Given the description of an element on the screen output the (x, y) to click on. 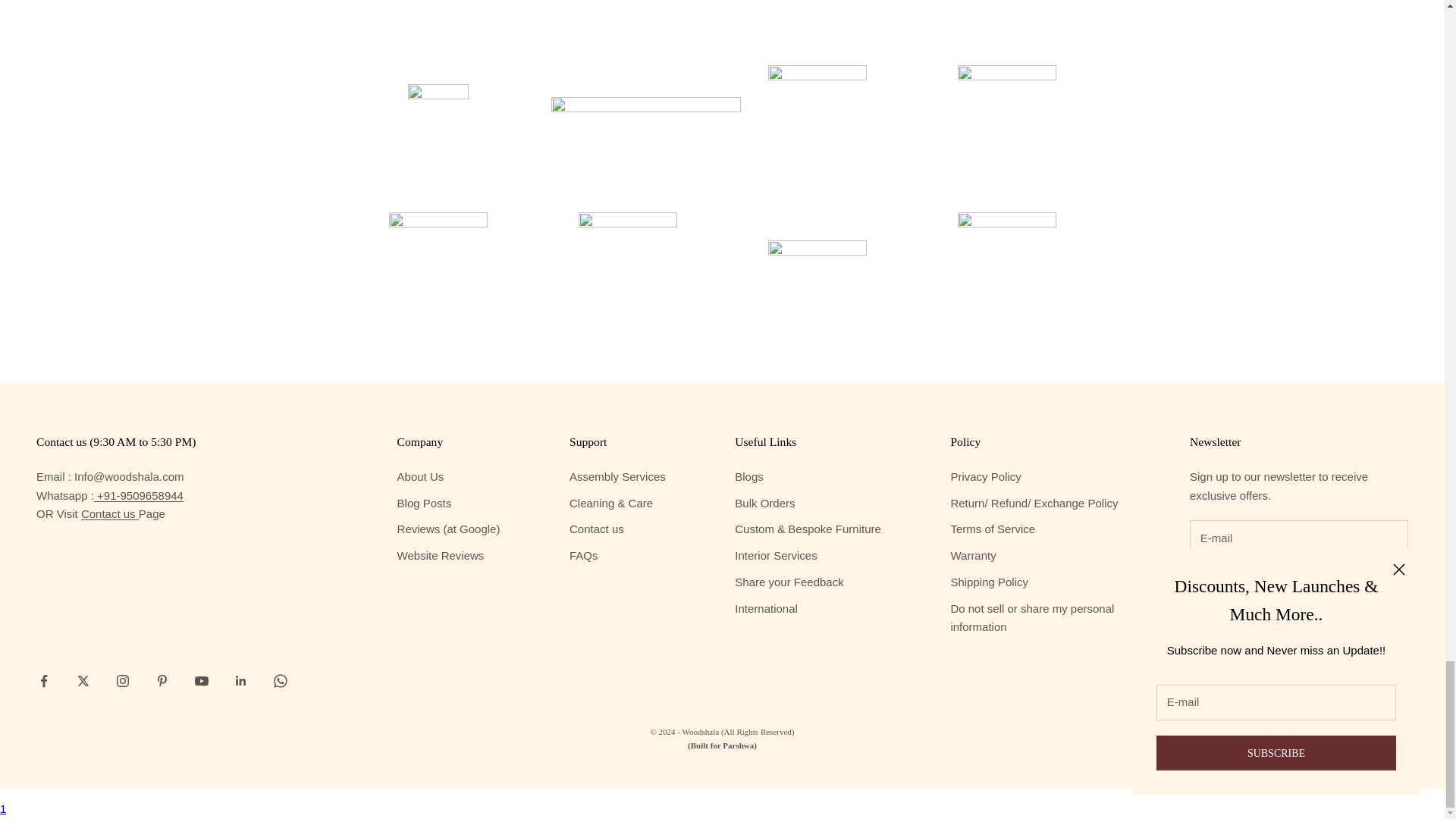
Contact us (109, 513)
